Given the description of an element on the screen output the (x, y) to click on. 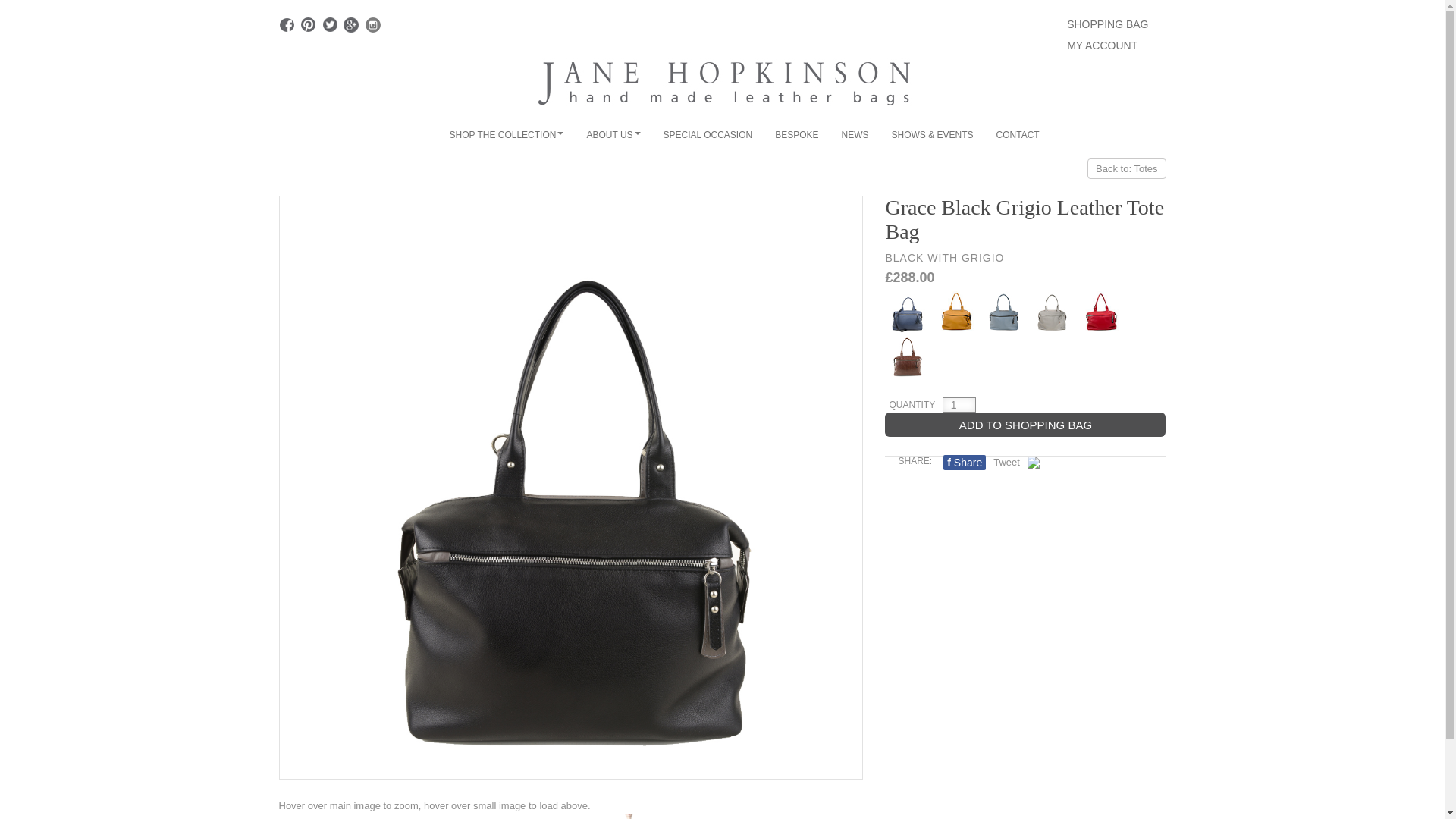
Back to: Totes (1126, 168)
Totes (1126, 168)
BESPOKE (795, 135)
Add to shopping bag (1025, 424)
ABOUT US (612, 135)
1 (958, 404)
SHOP THE COLLECTION (506, 135)
CONTACT (1018, 135)
SHOPPING BAG (1110, 25)
